Given the description of an element on the screen output the (x, y) to click on. 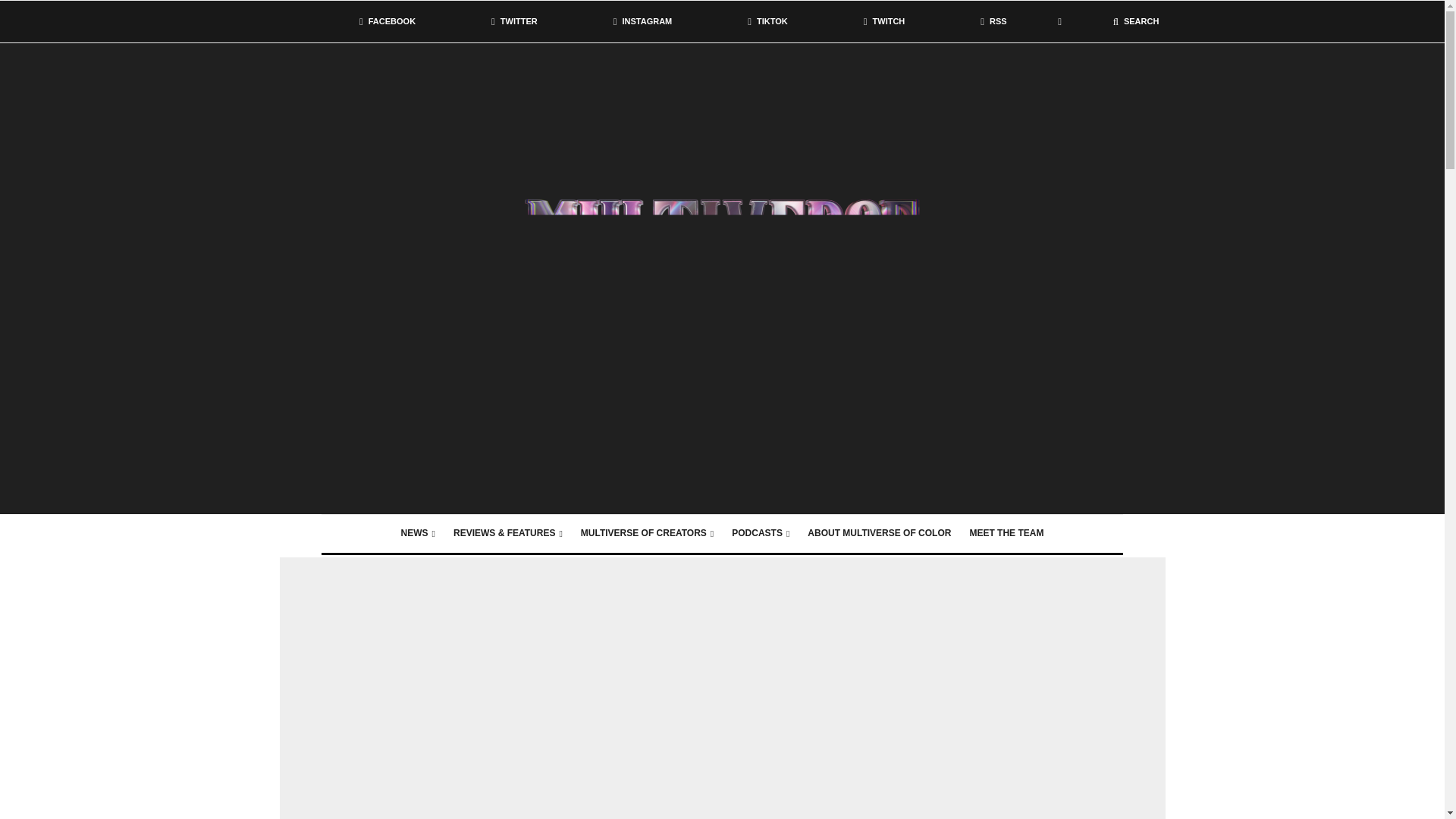
TIKTOK (767, 21)
INSTAGRAM (642, 21)
TWITTER (513, 21)
FACEBOOK (386, 21)
TWITCH (884, 21)
RSS (992, 21)
NEWS (417, 533)
SEARCH (1135, 21)
